Given the description of an element on the screen output the (x, y) to click on. 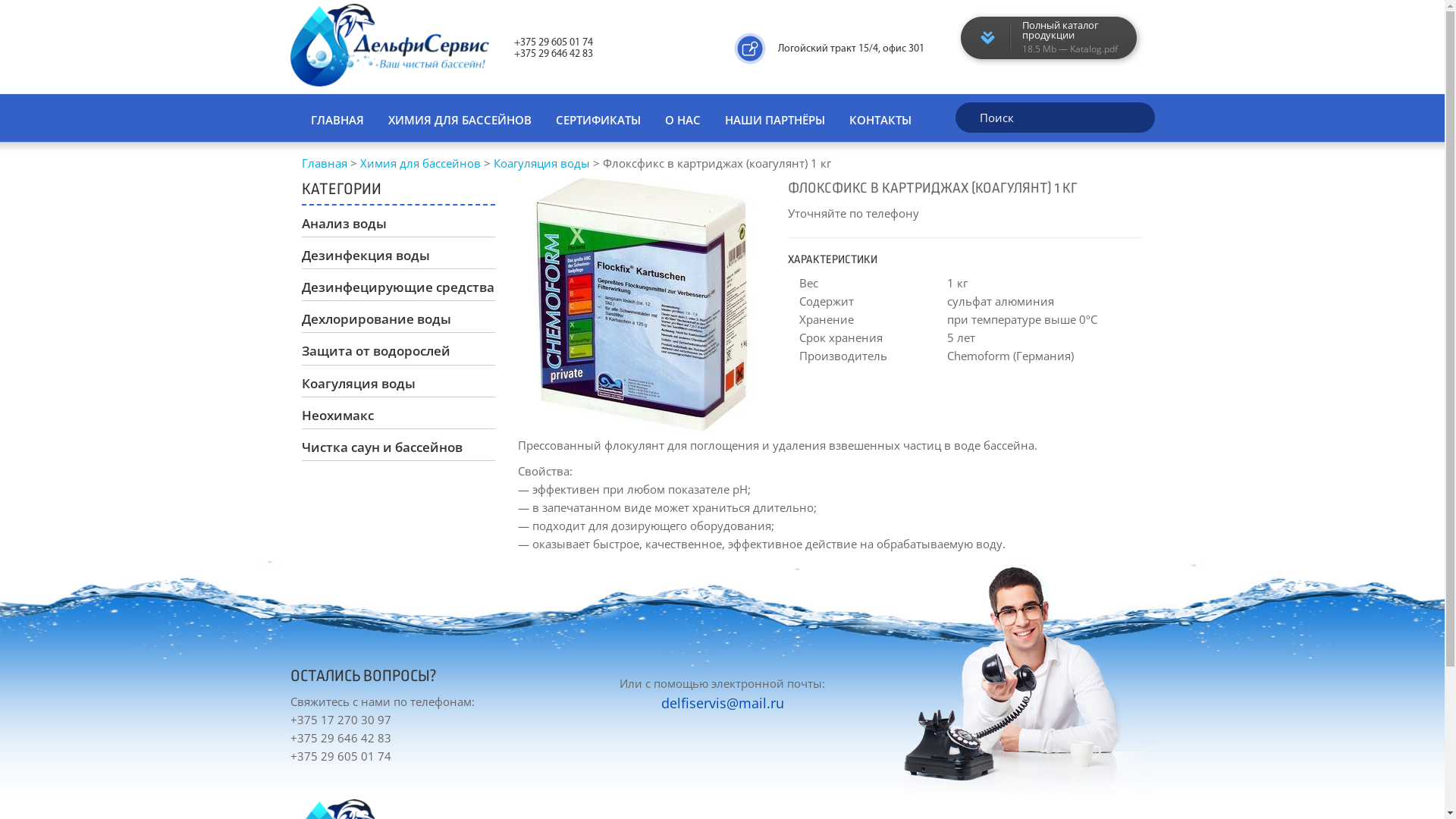
delfiservis@mail.ru Element type: text (722, 702)
